Given the description of an element on the screen output the (x, y) to click on. 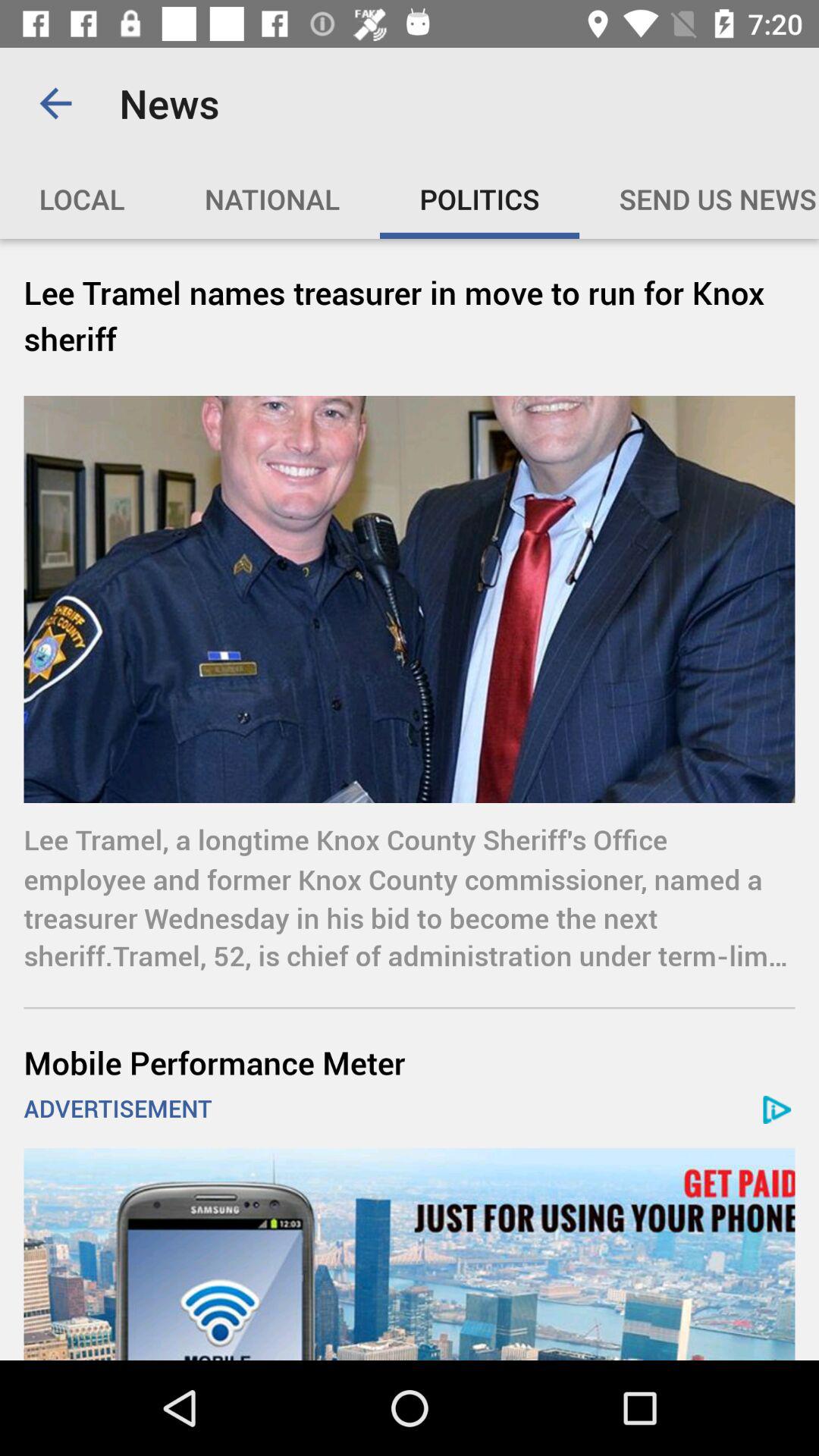
open the app to the left of news icon (55, 103)
